Given the description of an element on the screen output the (x, y) to click on. 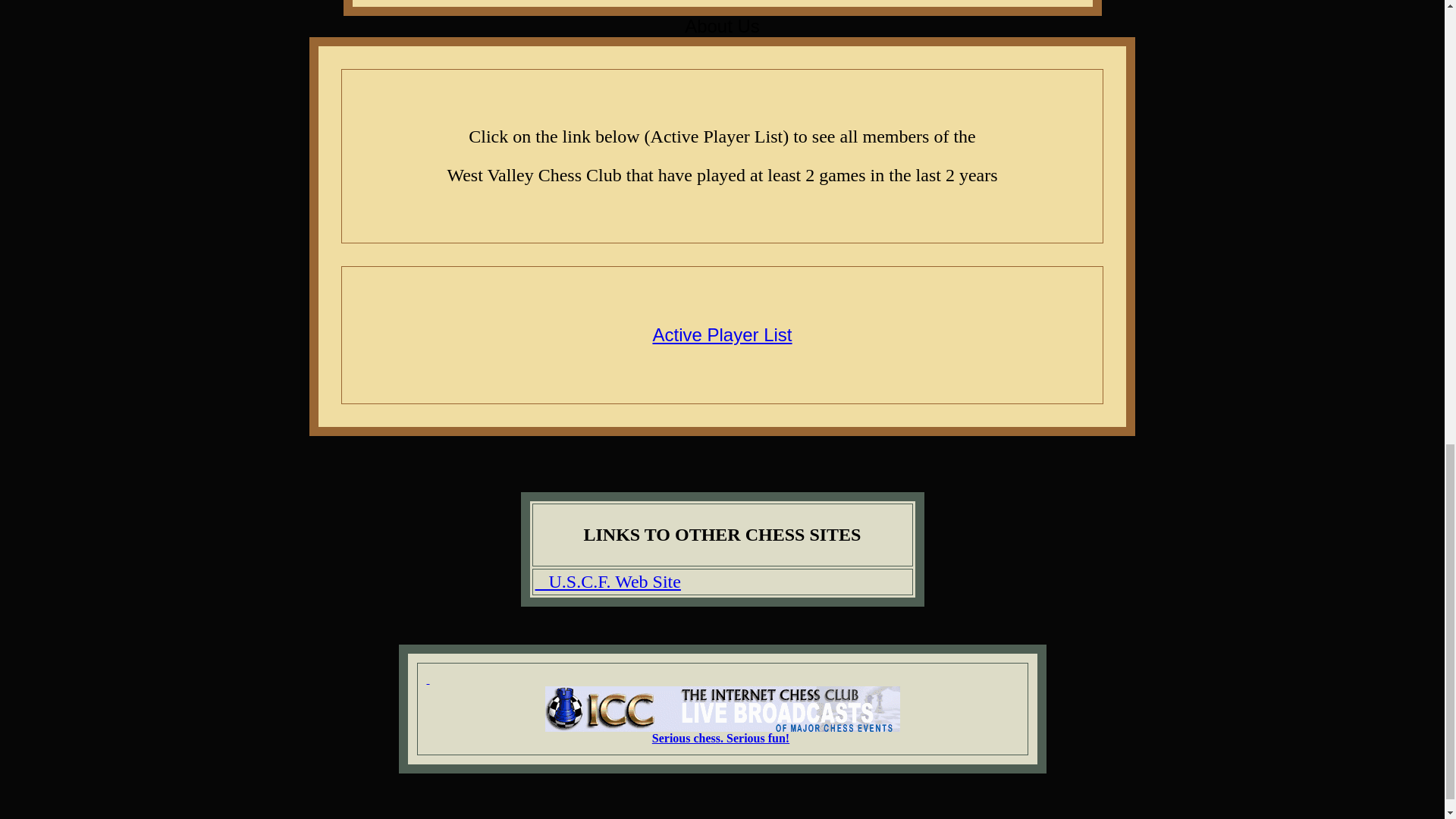
   U.S.C.F. Web Site (608, 581)
Active Player List (722, 334)
Serious chess. Serious fun! (720, 738)
